Given the description of an element on the screen output the (x, y) to click on. 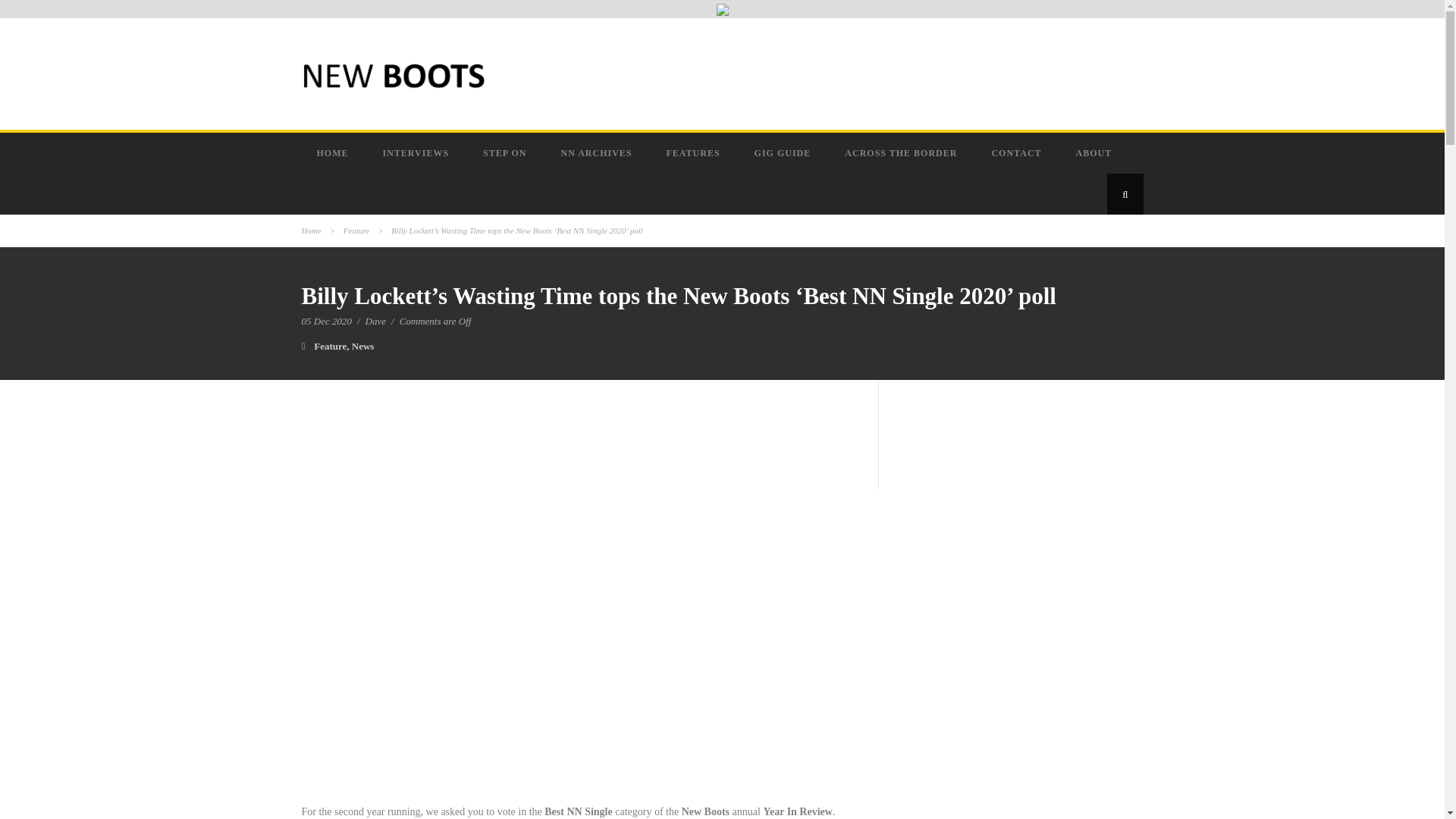
05 Dec 2020 (326, 320)
Feature (330, 346)
INTERVIEWS (416, 152)
FEATURES (694, 152)
STEP ON (505, 152)
News (363, 346)
HOME (334, 152)
NN ARCHIVES (597, 152)
ACROSS THE BORDER (902, 152)
GIG GUIDE (784, 152)
Feature (356, 230)
CONTACT (1017, 152)
Home (311, 230)
ABOUT (1096, 152)
Dave (375, 320)
